Given the description of an element on the screen output the (x, y) to click on. 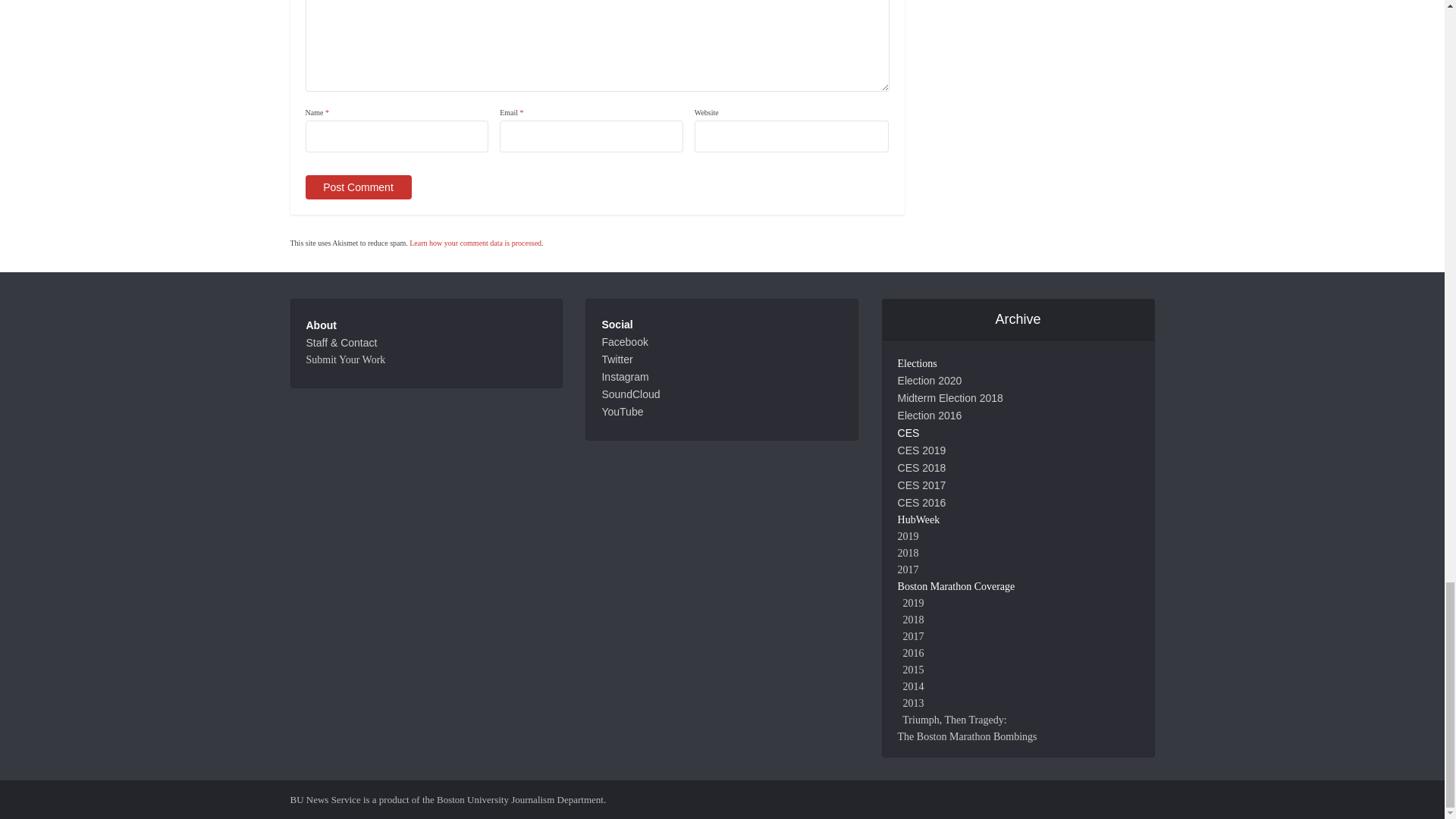
Post Comment (357, 187)
